Given the description of an element on the screen output the (x, y) to click on. 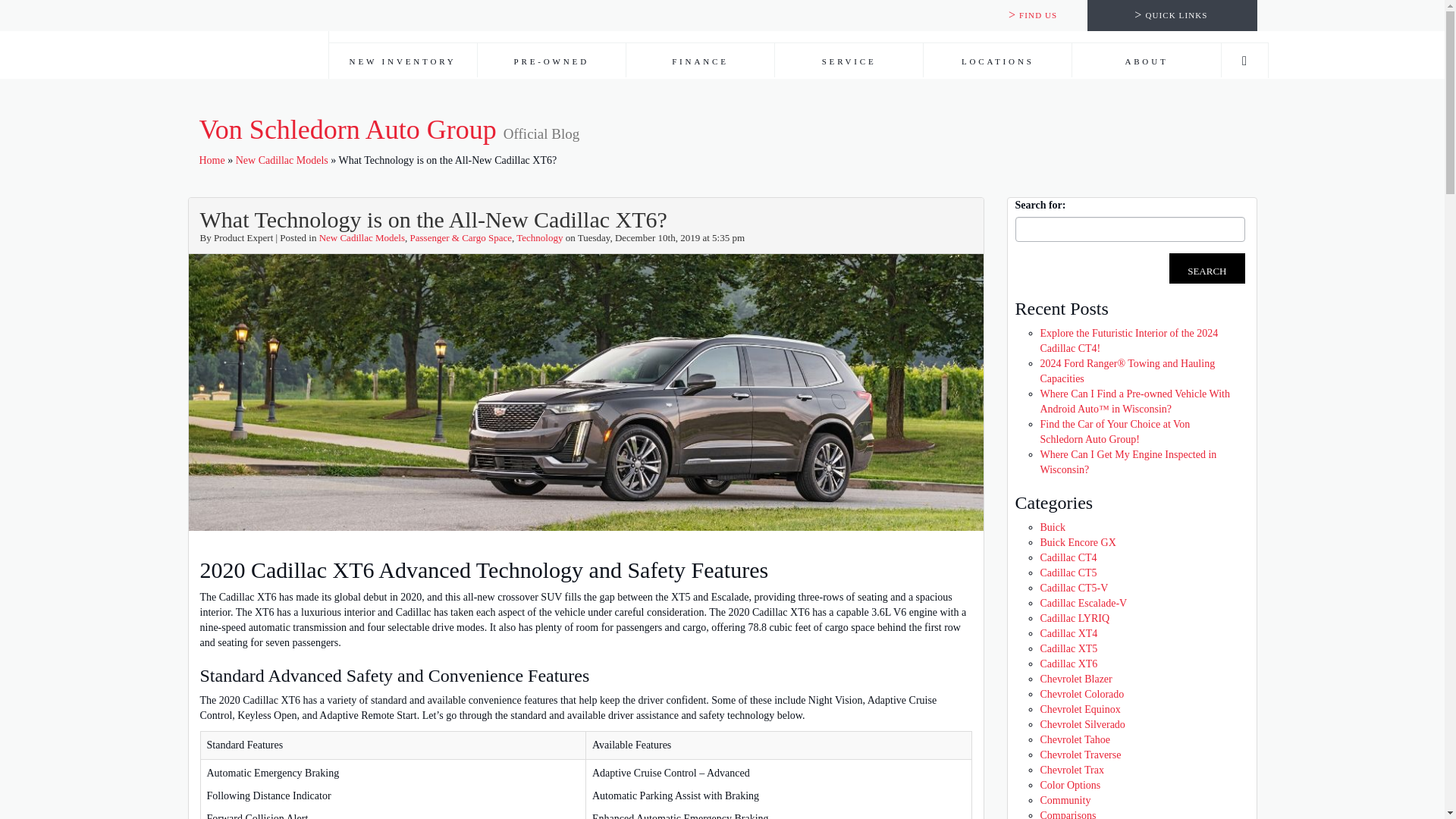
Search (1206, 268)
NEW INVENTORY (403, 59)
Eric Von Schledorn Logo (252, 39)
New Inventory (403, 61)
